Given the description of an element on the screen output the (x, y) to click on. 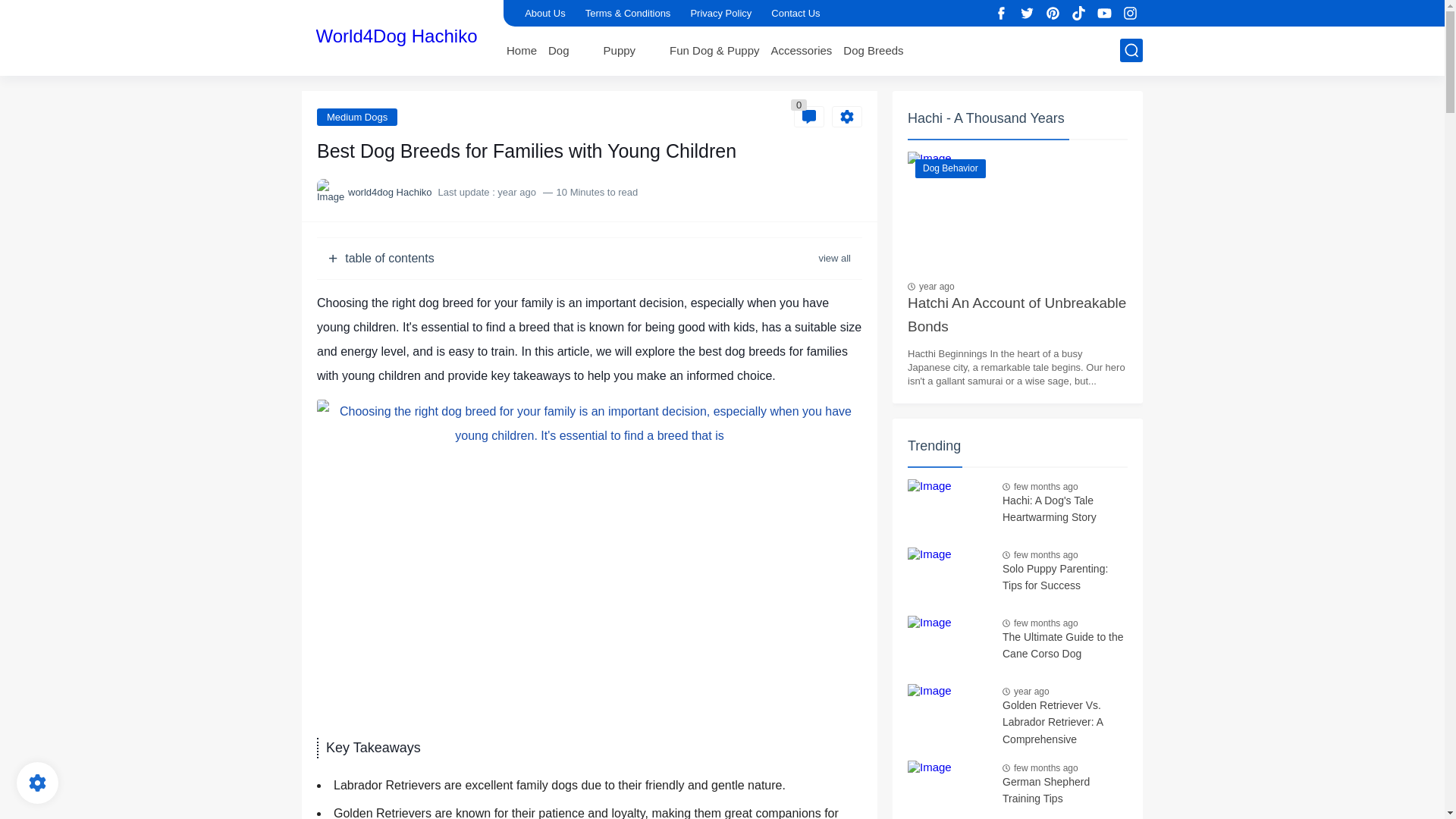
instagram (1129, 13)
Contact Us (795, 12)
Dog Breeds (872, 50)
Puppy (620, 50)
World4Dog Hachiko  (396, 35)
About Us (544, 12)
Puppy (620, 50)
Home (521, 50)
Dog (558, 50)
Accessories (800, 50)
